Given the description of an element on the screen output the (x, y) to click on. 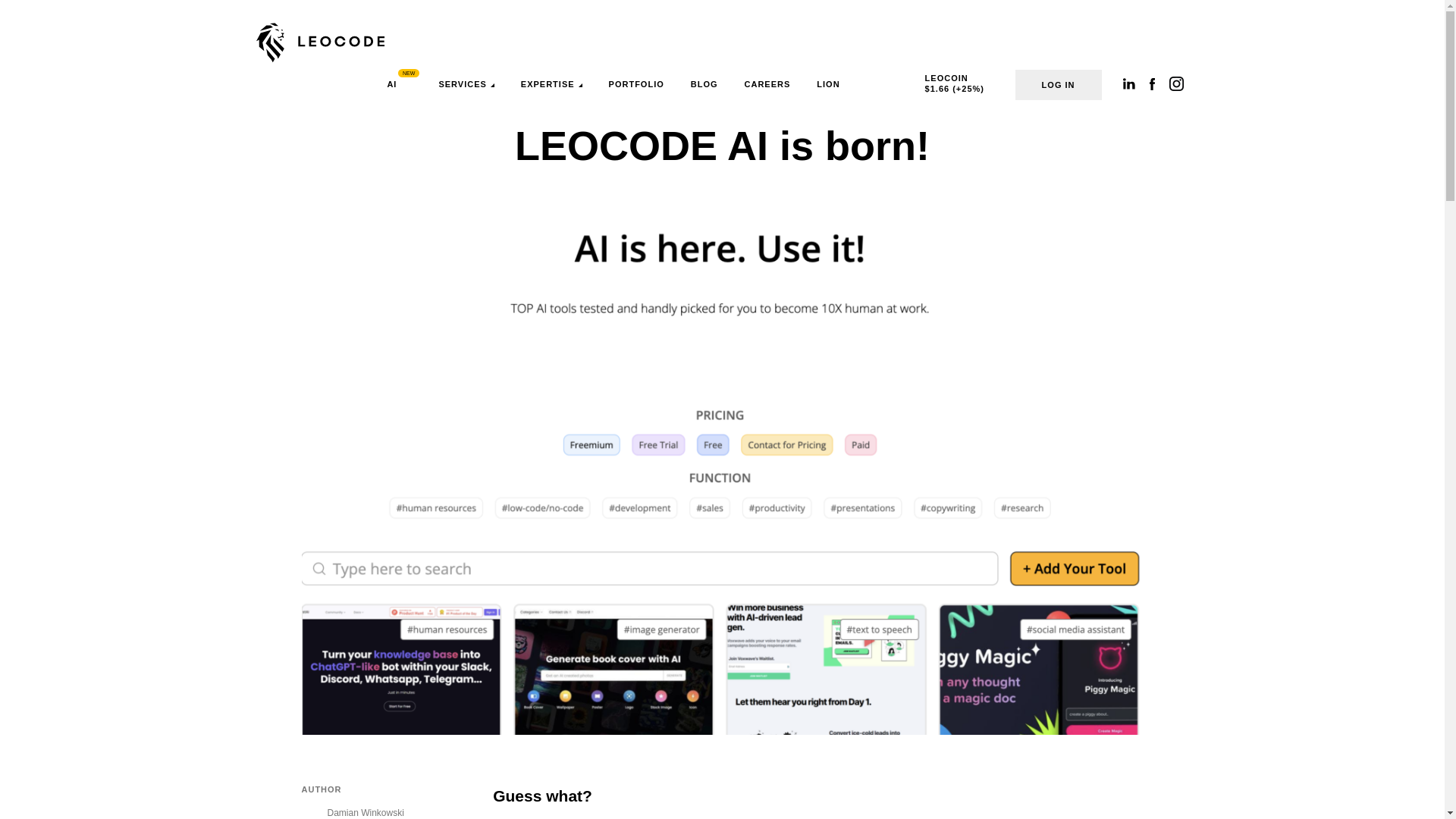
LEOCOIN (942, 79)
SERVICES (465, 84)
CAREERS (767, 84)
LOG IN (1058, 84)
LEOCODE (320, 42)
LEOCODE (320, 42)
PORTFOLIO (635, 84)
EXPERTISE (551, 84)
